Given the description of an element on the screen output the (x, y) to click on. 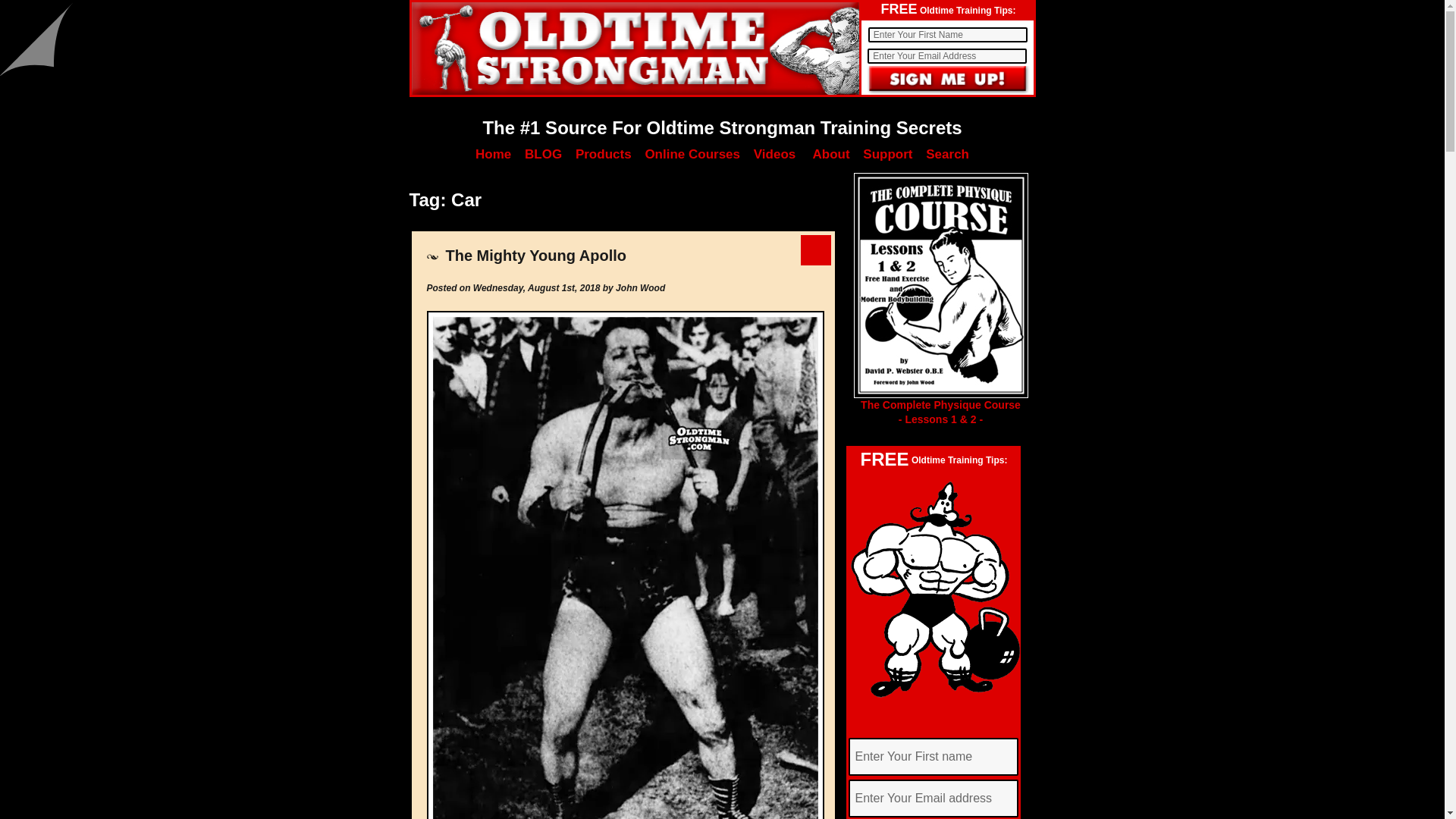
BLOG (543, 154)
About (830, 154)
Please, insert a valid email address. (946, 55)
6524670f6c74e652d7b9b7ae (947, 80)
Online Courses (692, 154)
Products (603, 154)
Please, insert a valid name. (946, 34)
Home (493, 154)
Please, insert a valid email address. (932, 798)
Please, insert a valid name. (932, 756)
